Given the description of an element on the screen output the (x, y) to click on. 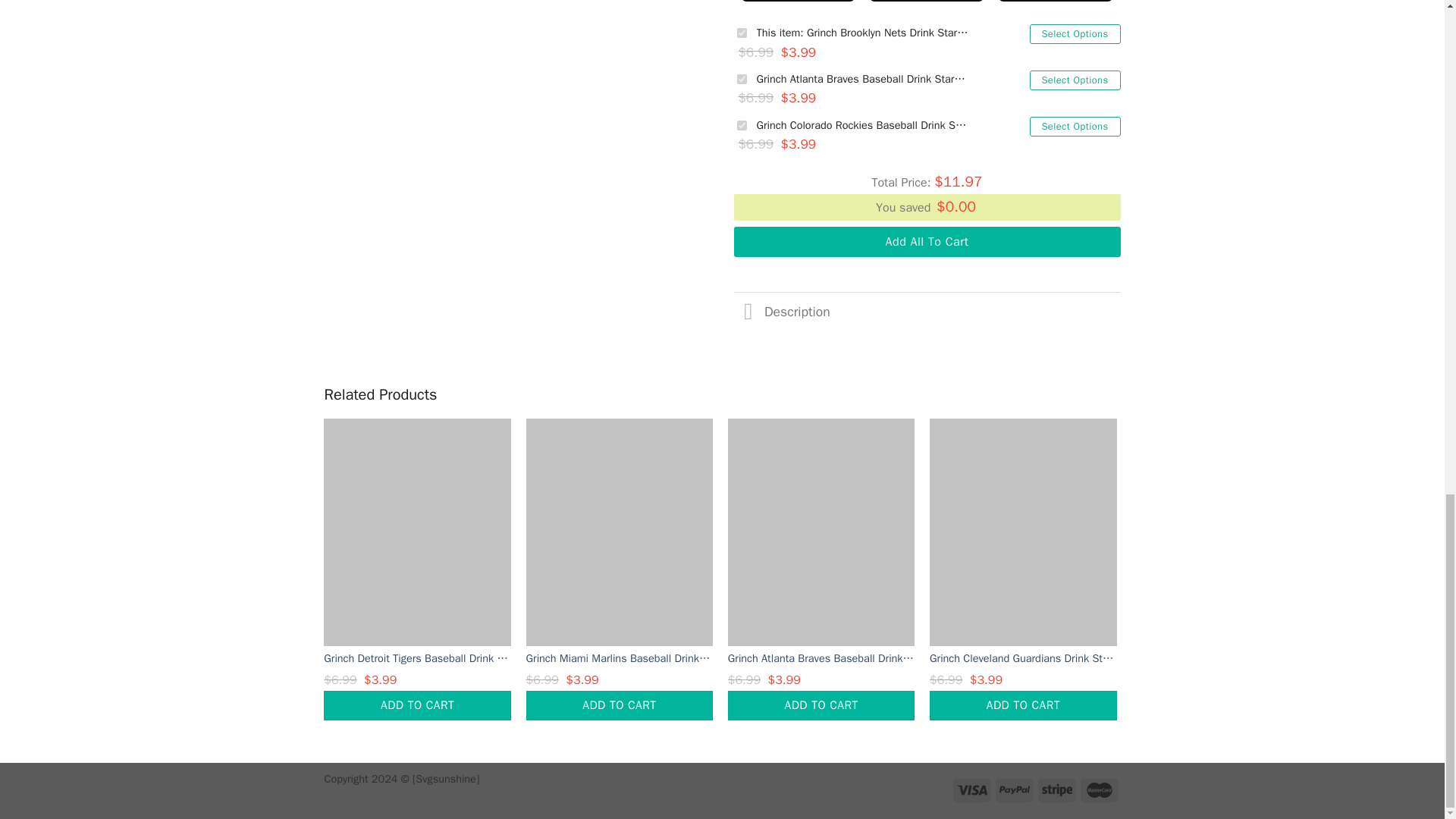
Add All To Cart (927, 241)
190262 (741, 125)
This item: Grinch Brooklyn Nets Drink Starbucks PNG (863, 32)
Select Options (1075, 126)
190329 (741, 32)
190244 (741, 79)
Select Options (1075, 80)
Grinch Colorado Rockies Baseball Drink Starbucks PNG (863, 125)
Select Options (1075, 34)
Grinch Atlanta Braves Baseball Drink Starbucks PNG (863, 78)
